Given the description of an element on the screen output the (x, y) to click on. 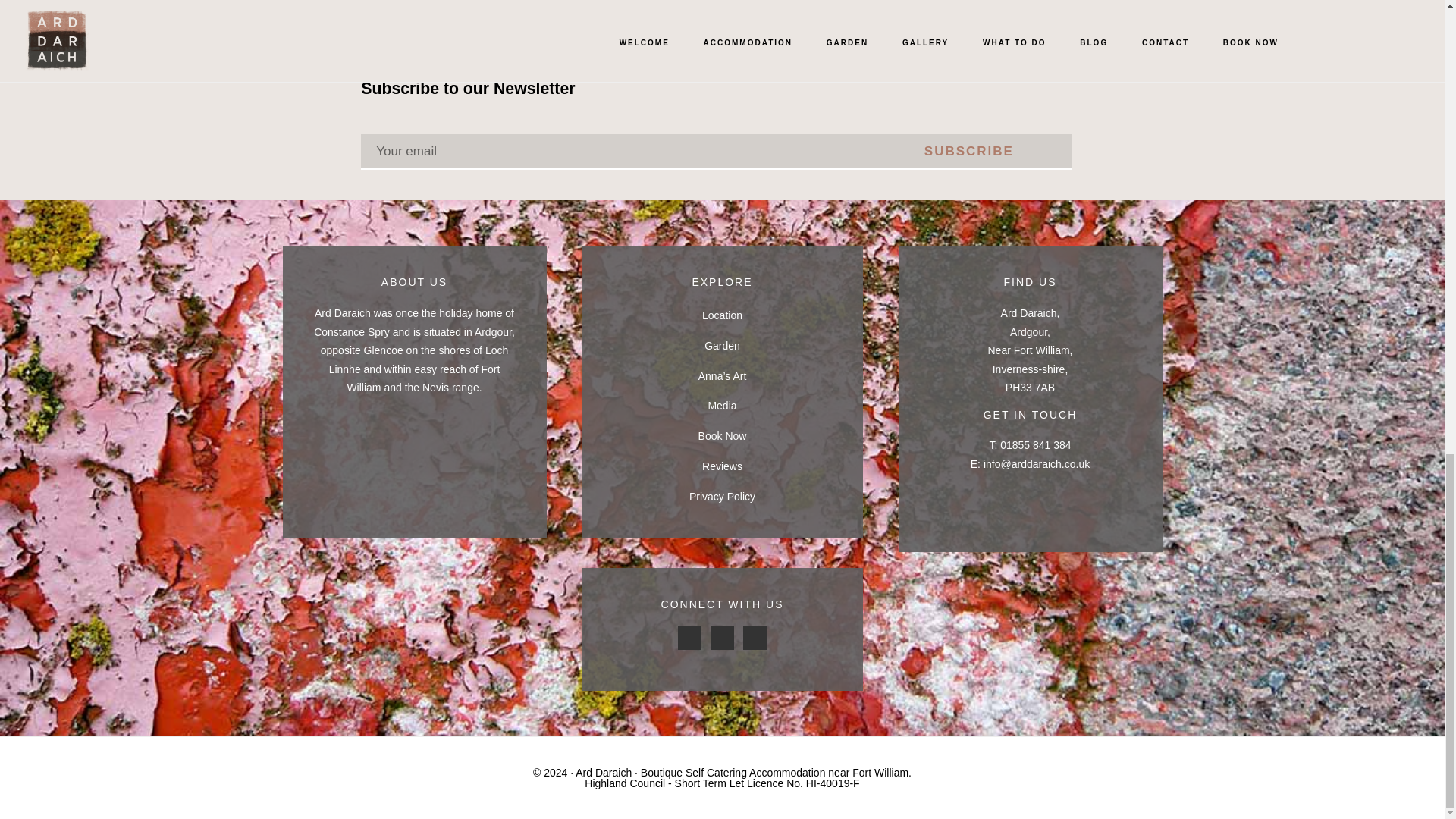
Reviews (721, 466)
Media (721, 405)
Garden (721, 345)
Location (721, 315)
Privacy Policy (721, 496)
Subscribe (968, 151)
Book Now (722, 435)
Subscribe (968, 151)
